Given the description of an element on the screen output the (x, y) to click on. 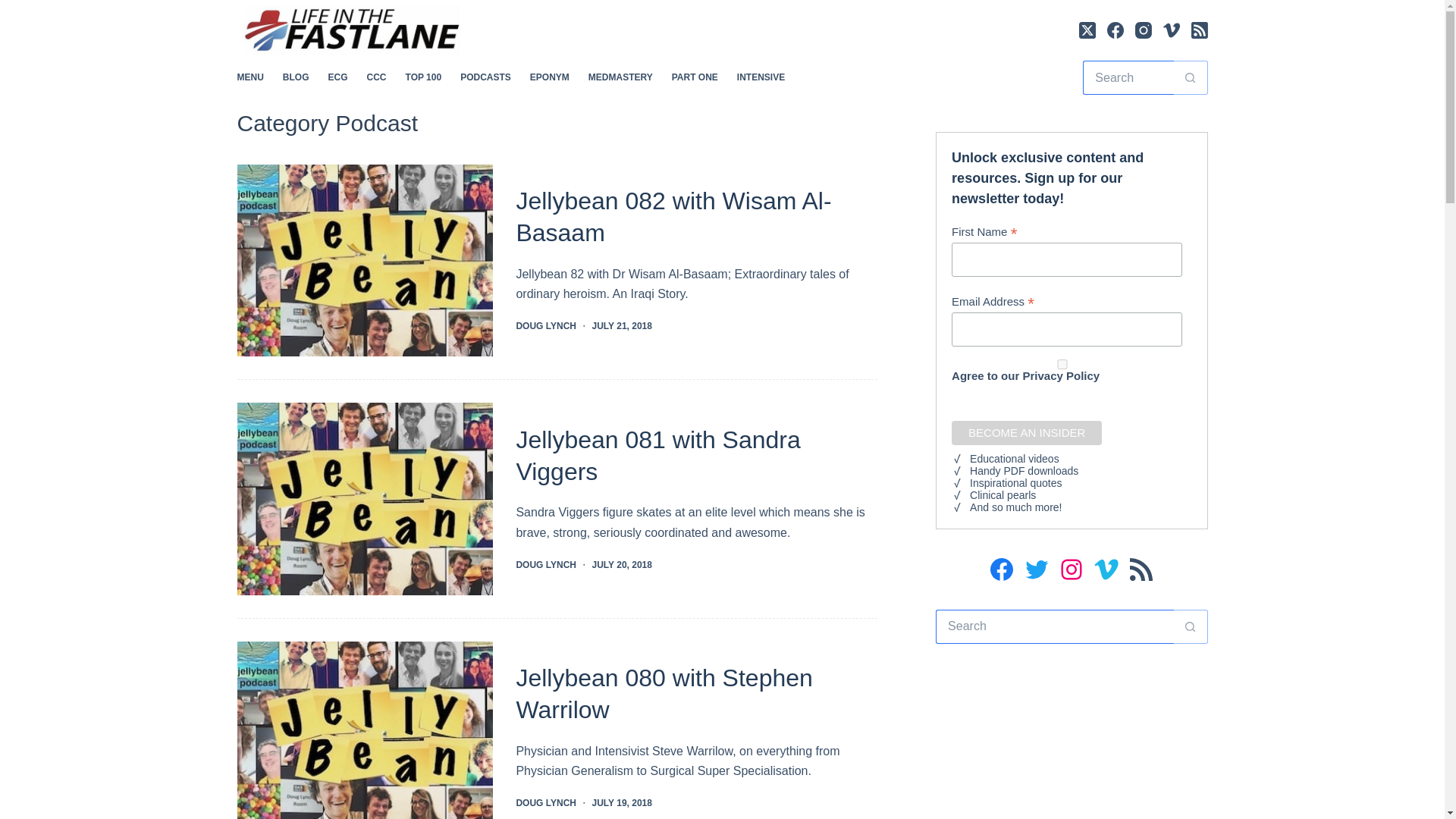
ECG (337, 77)
INTENSIVE (759, 77)
BLOG (295, 77)
Posts by Doug Lynch (545, 564)
DOUG LYNCH (545, 326)
PODCASTS (486, 77)
Search for... (1128, 77)
TOP 100 (423, 77)
CCC (376, 77)
Y (1062, 364)
MEDMASTERY (620, 77)
Jellybean 081 with Sandra Viggers (657, 455)
Posts by Doug Lynch (545, 326)
PART ONE (694, 77)
Skip to content (15, 7)
